Given the description of an element on the screen output the (x, y) to click on. 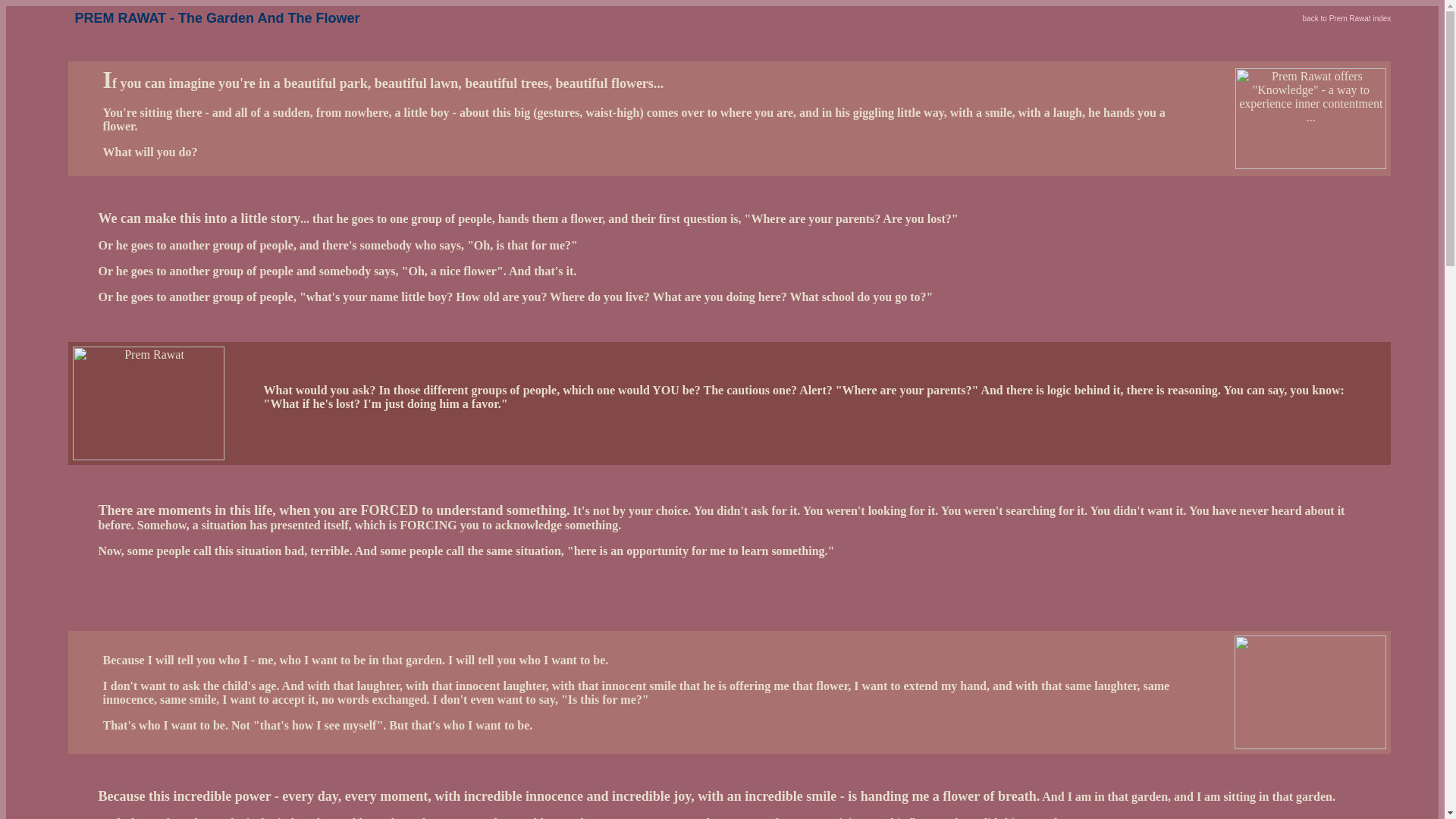
back to Prem Rawat index (1347, 18)
